Given the description of an element on the screen output the (x, y) to click on. 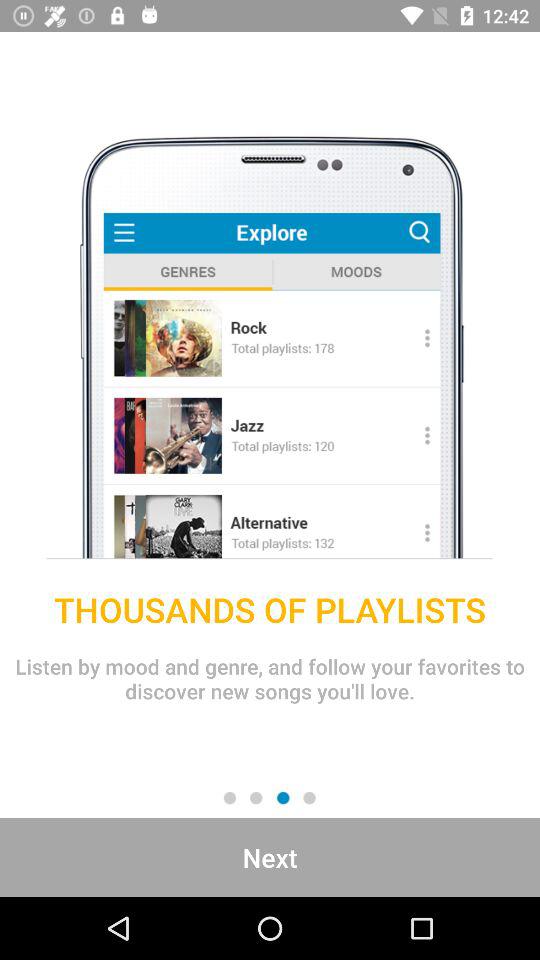
flip until the next app (270, 857)
